Given the description of an element on the screen output the (x, y) to click on. 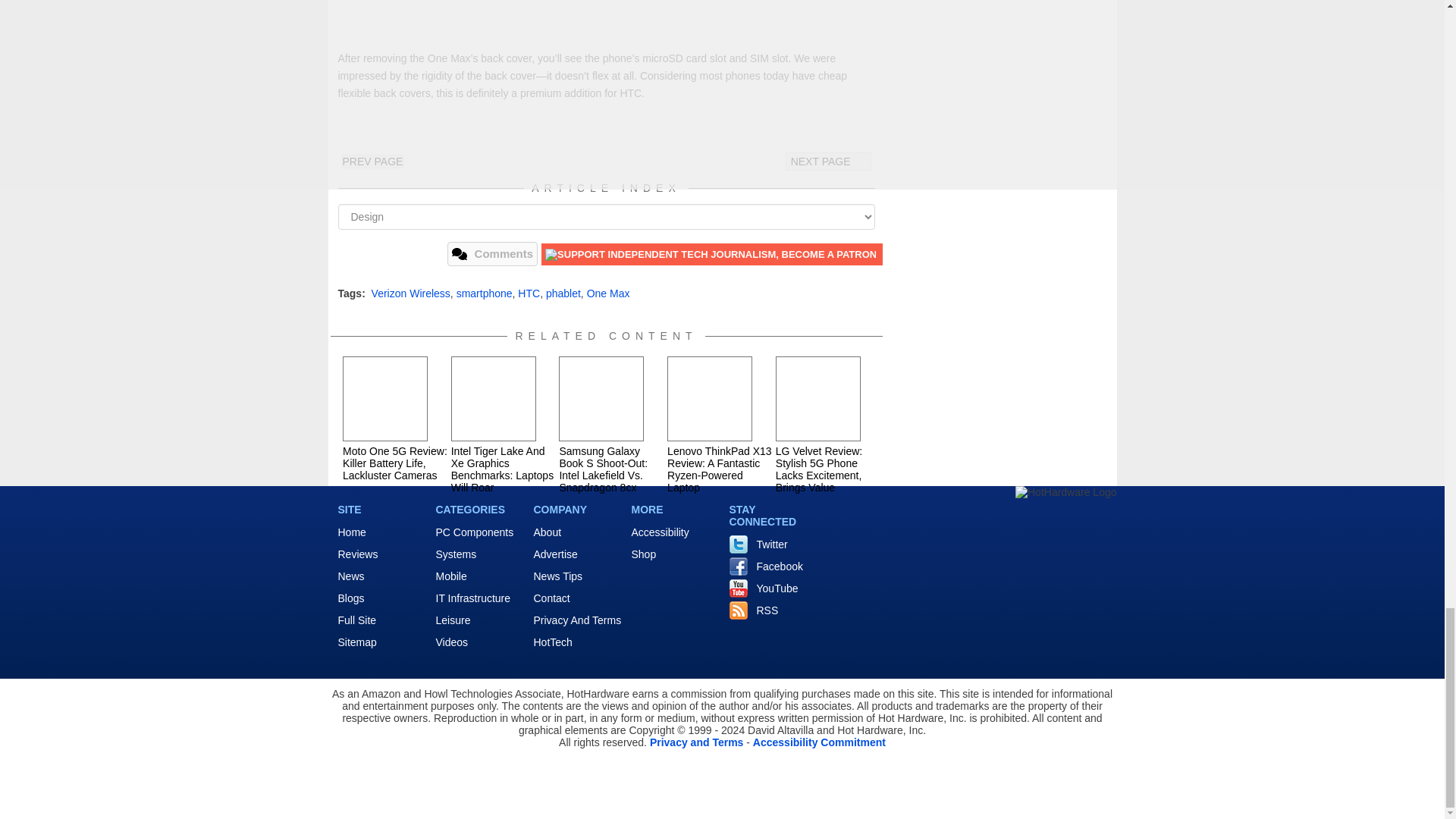
Comments (492, 253)
Lenovo ThinkPad X13 Review: A Fantastic Ryzen-Powered Laptop (709, 398)
Moto One 5G Review: Killer Battery Life, Lackluster Cameras (384, 398)
